Given the description of an element on the screen output the (x, y) to click on. 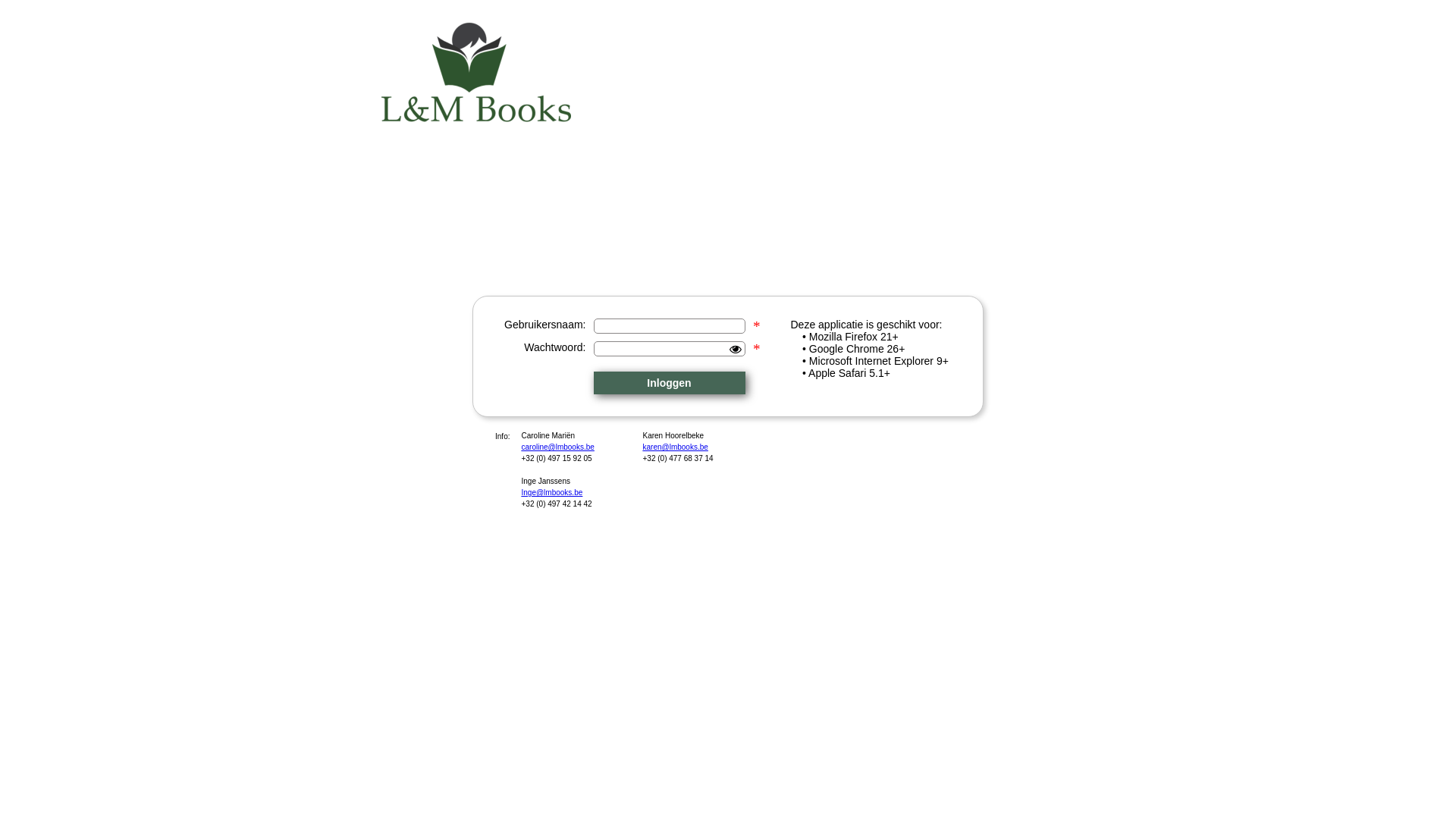
karen@lmbooks.be Element type: text (711, 448)
caroline@lmbooks.be Element type: text (597, 448)
Show password Element type: hover (735, 348)
Inge@lmbooks.be Element type: text (576, 493)
